Given the description of an element on the screen output the (x, y) to click on. 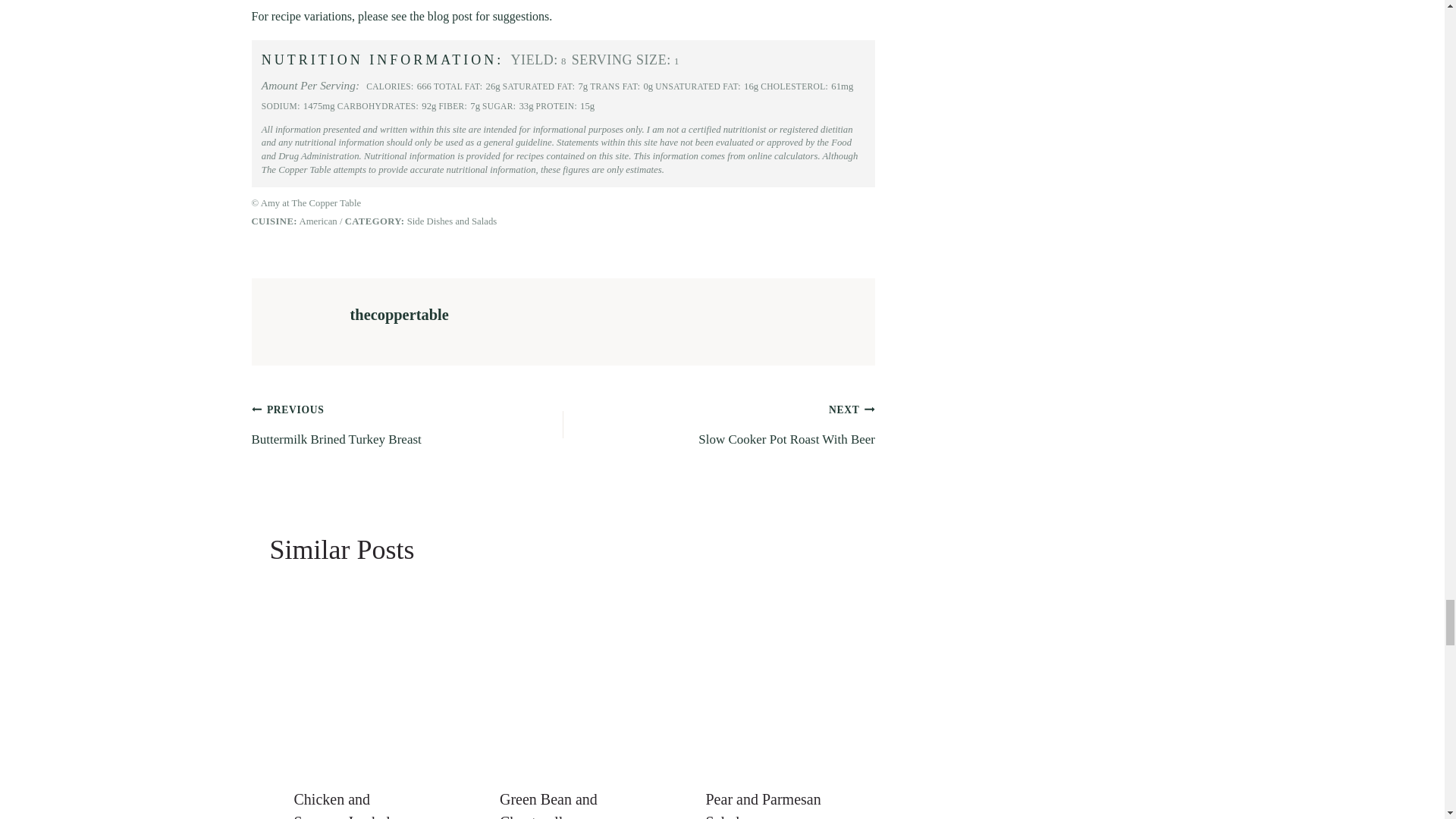
thecoppertable (719, 424)
Posts by thecoppertable (399, 314)
